Given the description of an element on the screen output the (x, y) to click on. 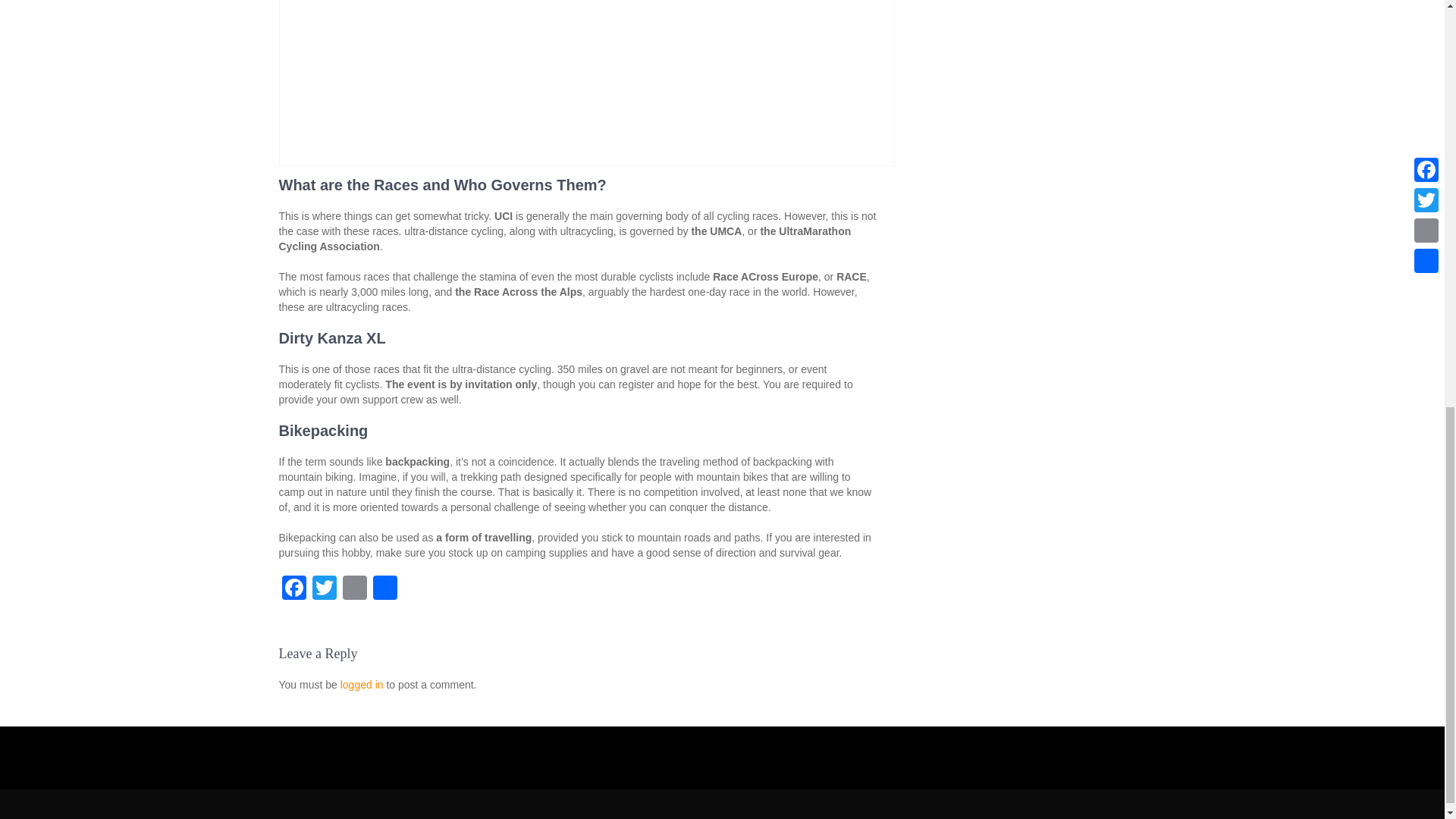
Facebook (293, 589)
Email (354, 589)
Twitter (323, 589)
Twitter (323, 589)
logged in (362, 684)
Facebook (293, 589)
Email (354, 589)
